Given the description of an element on the screen output the (x, y) to click on. 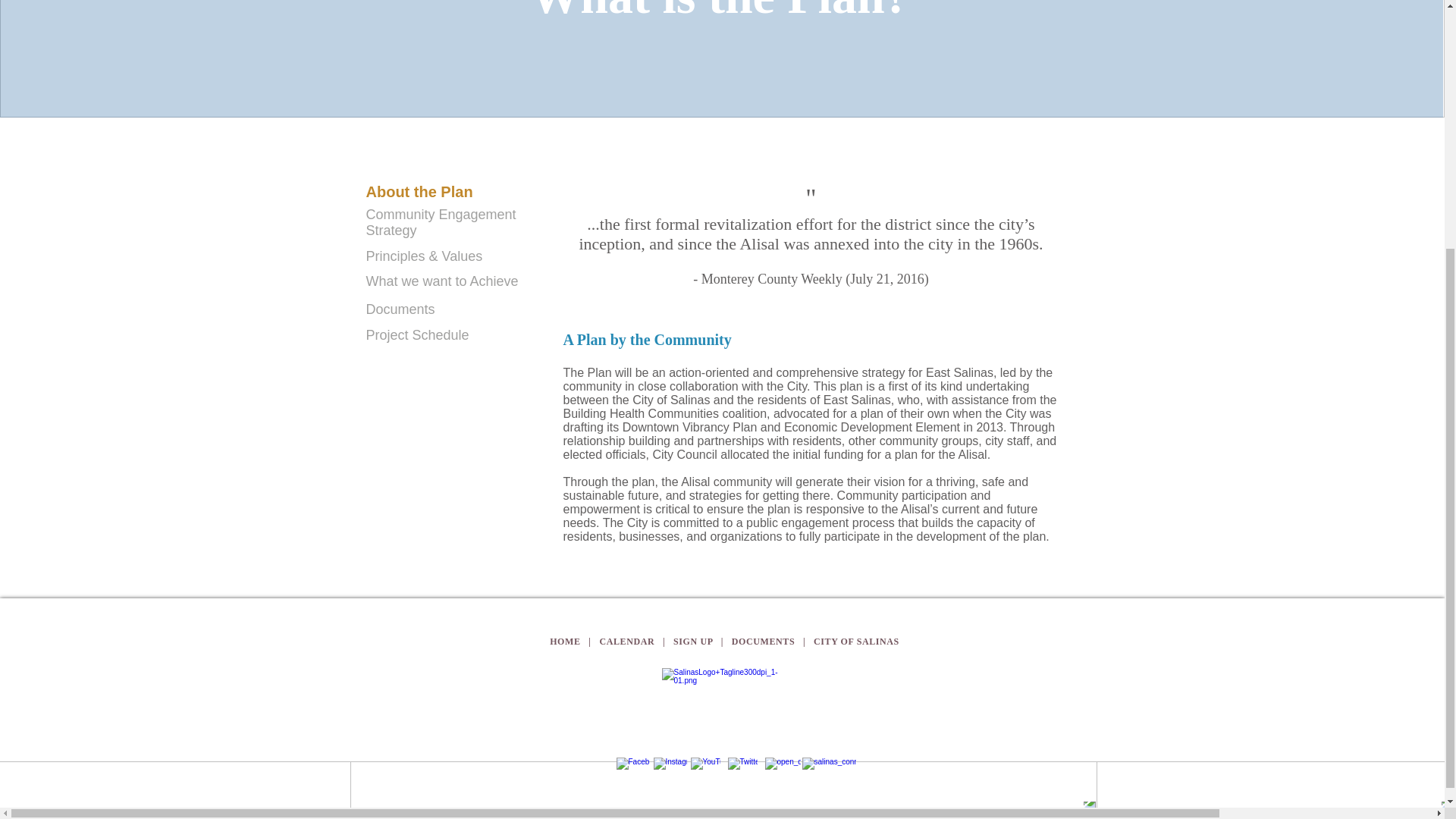
CALENDAR (625, 641)
What we want to Achieve (441, 281)
Strategy (390, 230)
Documents (399, 309)
CITY OF SALINAS (856, 641)
Community Engagement (440, 214)
SIGN UP (692, 641)
Project Schedule (416, 335)
HOME  (566, 641)
DOCUMENTS (763, 641)
